Given the description of an element on the screen output the (x, y) to click on. 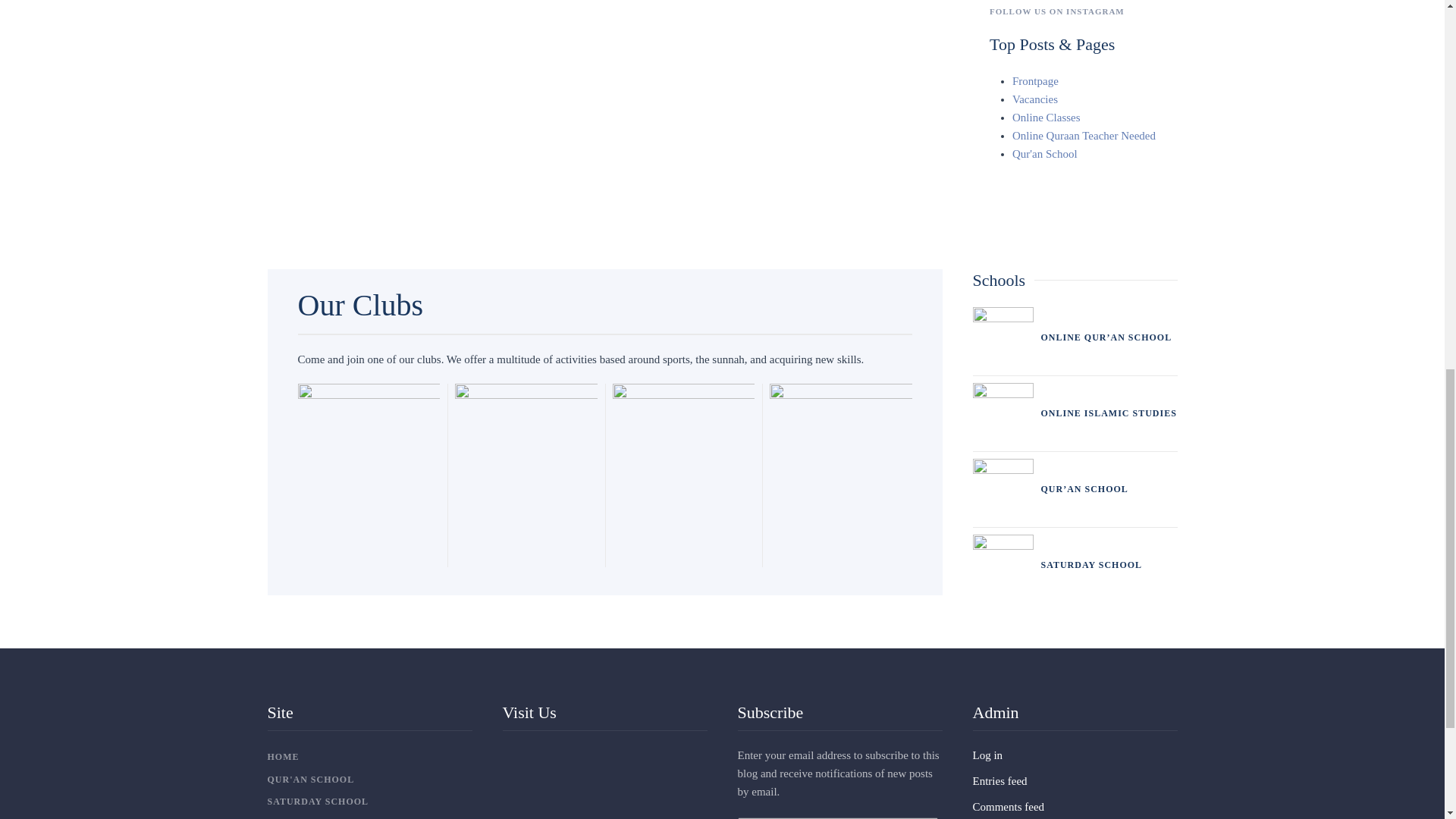
Google Map Embed (604, 782)
Frontpage (1034, 80)
